Given the description of an element on the screen output the (x, y) to click on. 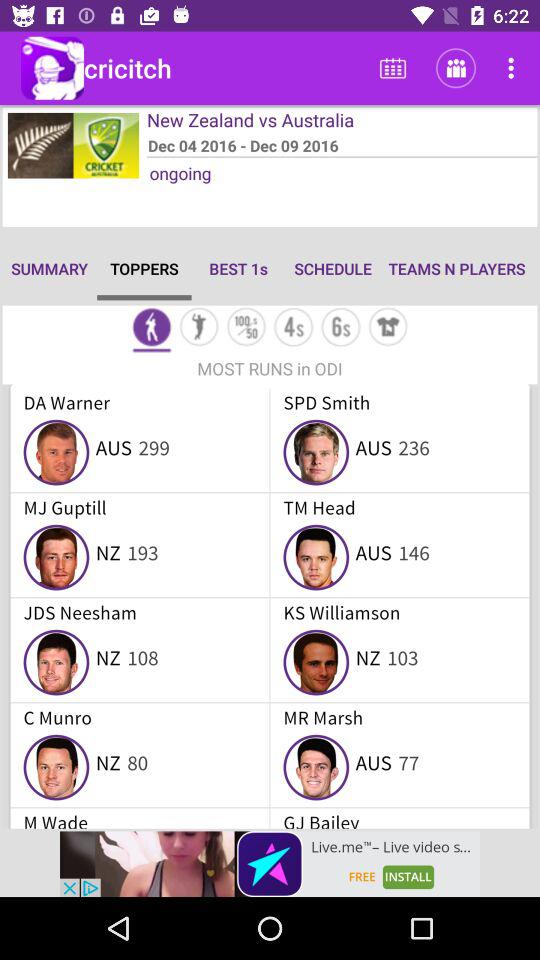
dress (387, 328)
